Given the description of an element on the screen output the (x, y) to click on. 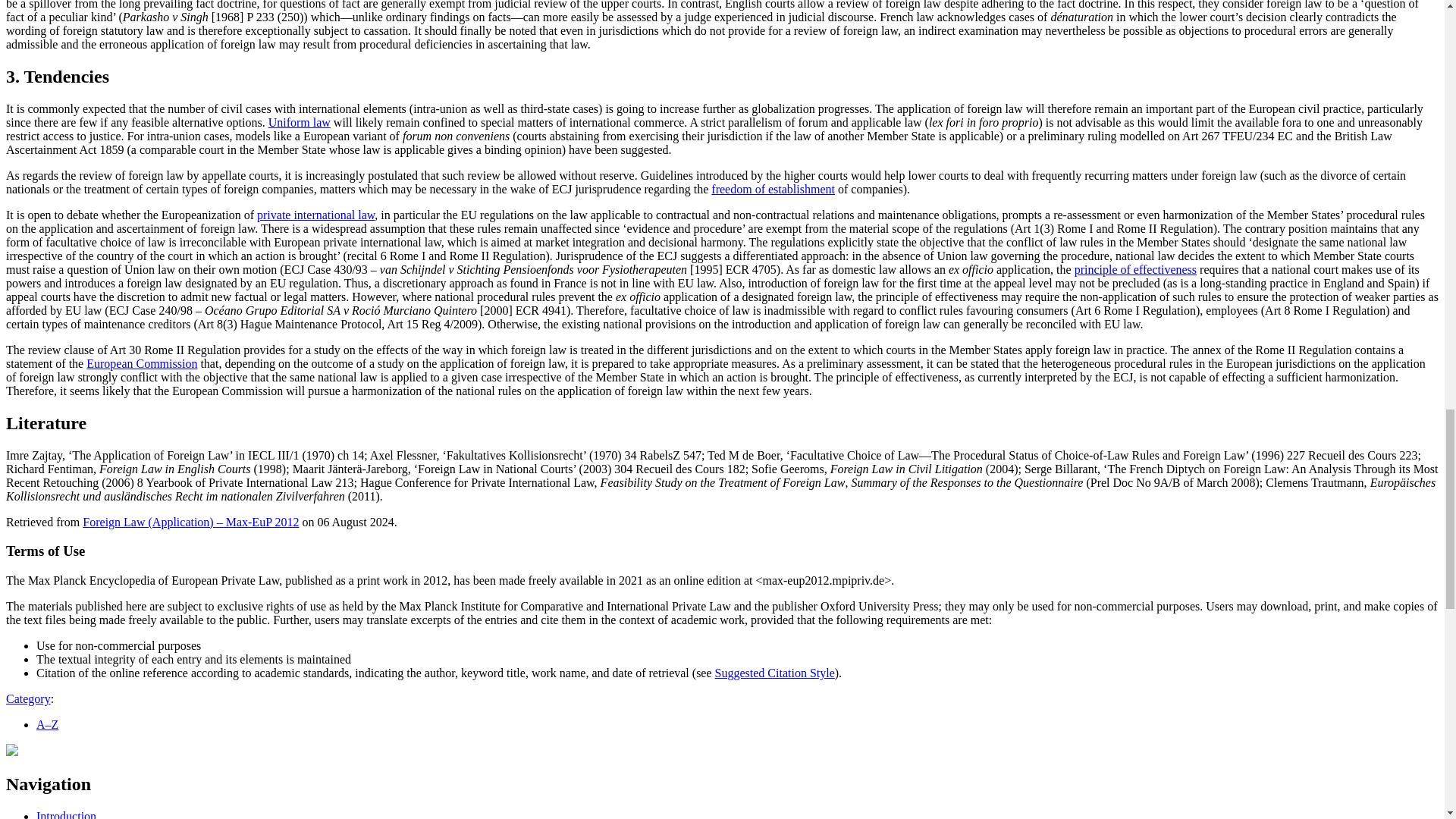
Suggested Citation Style (774, 672)
Uniform Law (298, 122)
freedom of establishment (772, 188)
Category (27, 698)
Introduction (66, 814)
private international law (315, 214)
Freedom of Establishment (772, 188)
principle of effectiveness (1135, 269)
European Commission (140, 363)
Uniform law (298, 122)
